Given the description of an element on the screen output the (x, y) to click on. 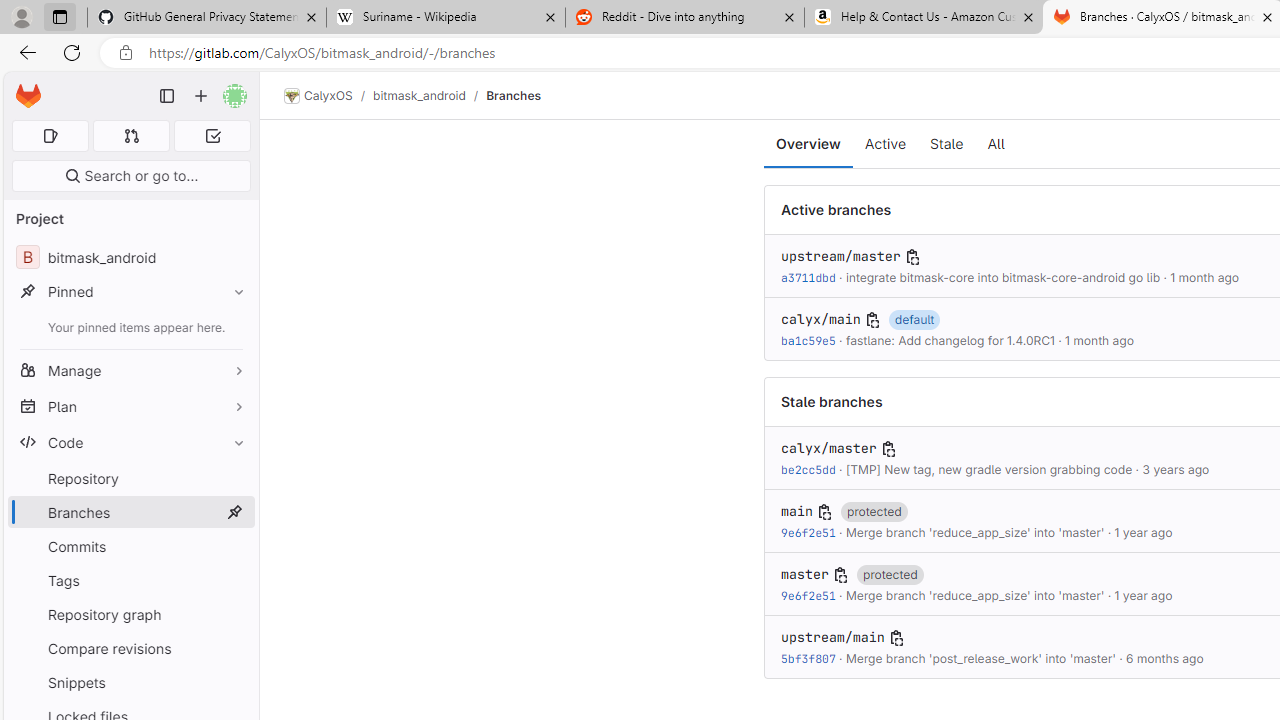
5bf3f807 (807, 658)
Commits (130, 546)
Merge branch 'reduce_app_size' into 'master' (974, 595)
Skip to main content (23, 87)
Pinned (130, 291)
Repository graph (130, 614)
Close tab (1267, 16)
Pin Compare revisions (234, 647)
integrate bitmask-core into bitmask-core-android go lib (1002, 277)
Compare revisions (130, 648)
Repository (130, 478)
Overview (808, 143)
Tags (130, 579)
Branches (513, 95)
Create new... (201, 96)
